Given the description of an element on the screen output the (x, y) to click on. 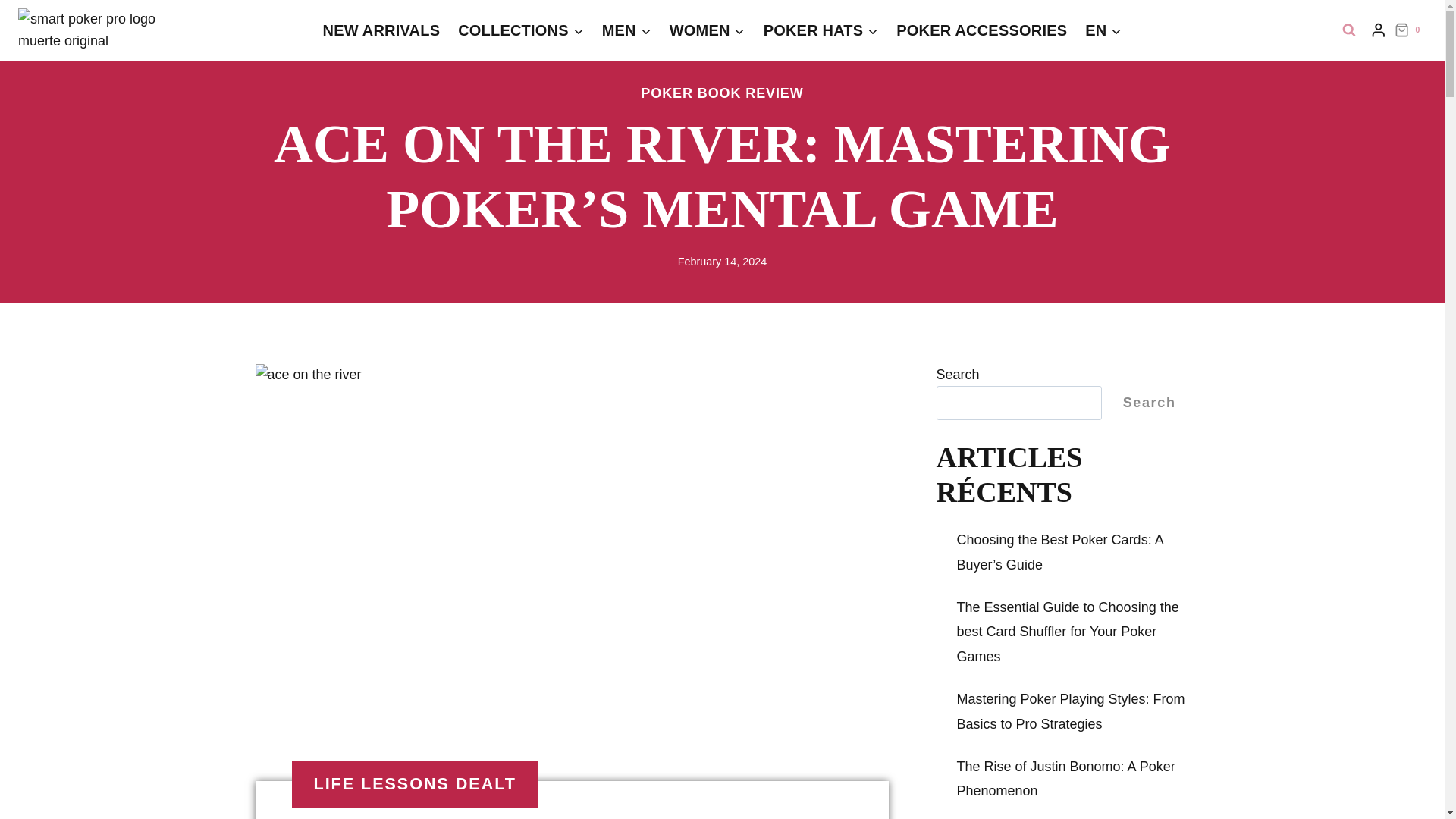
COLLECTIONS (520, 30)
POKER ACCESSORIES (980, 30)
0 (1410, 30)
WOMEN (707, 30)
POKER BOOK REVIEW (721, 92)
EN (1103, 30)
POKER HATS (821, 30)
NEW ARRIVALS (381, 30)
MEN (626, 30)
